Given the description of an element on the screen output the (x, y) to click on. 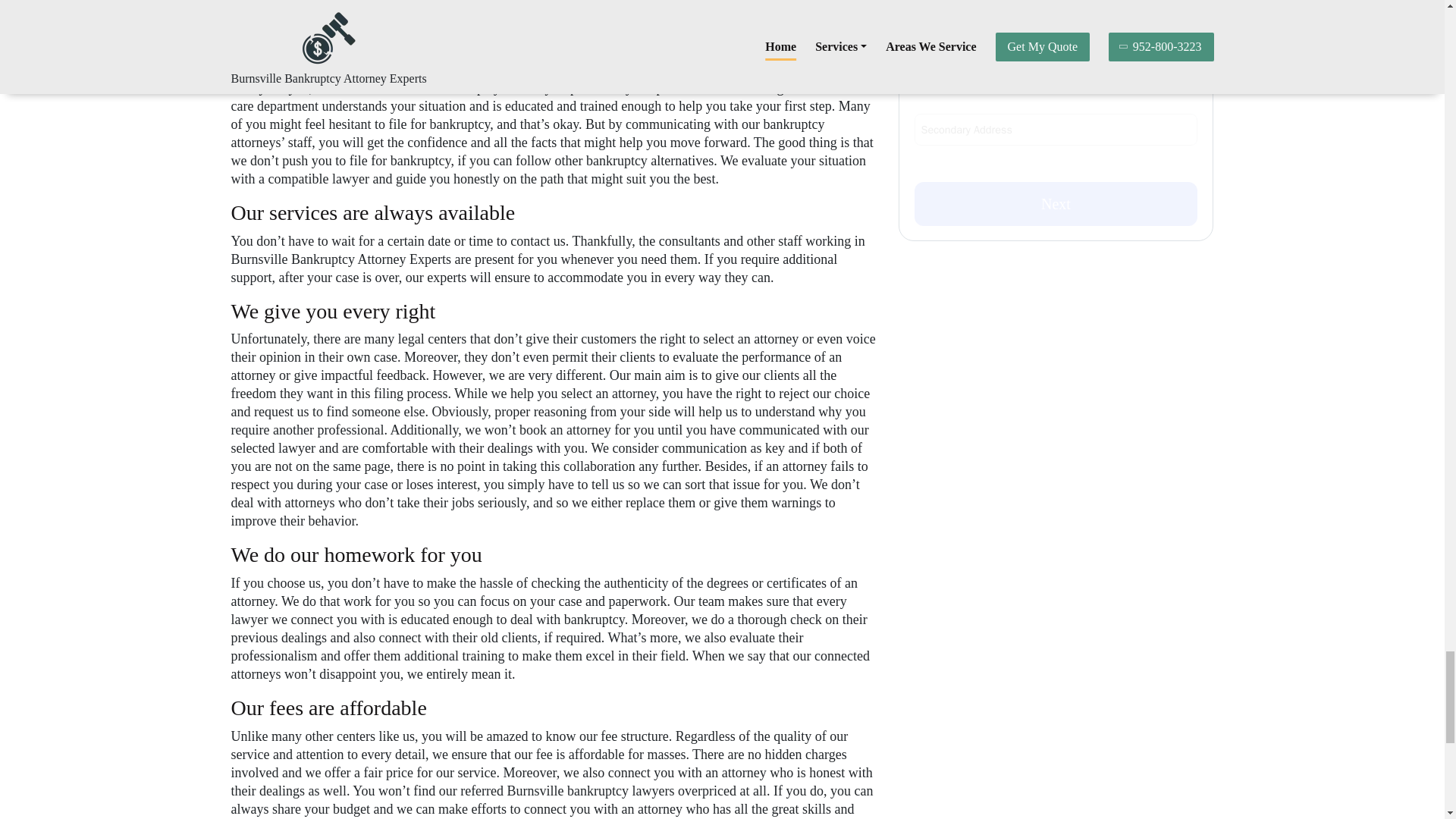
Next (1056, 203)
